Given the description of an element on the screen output the (x, y) to click on. 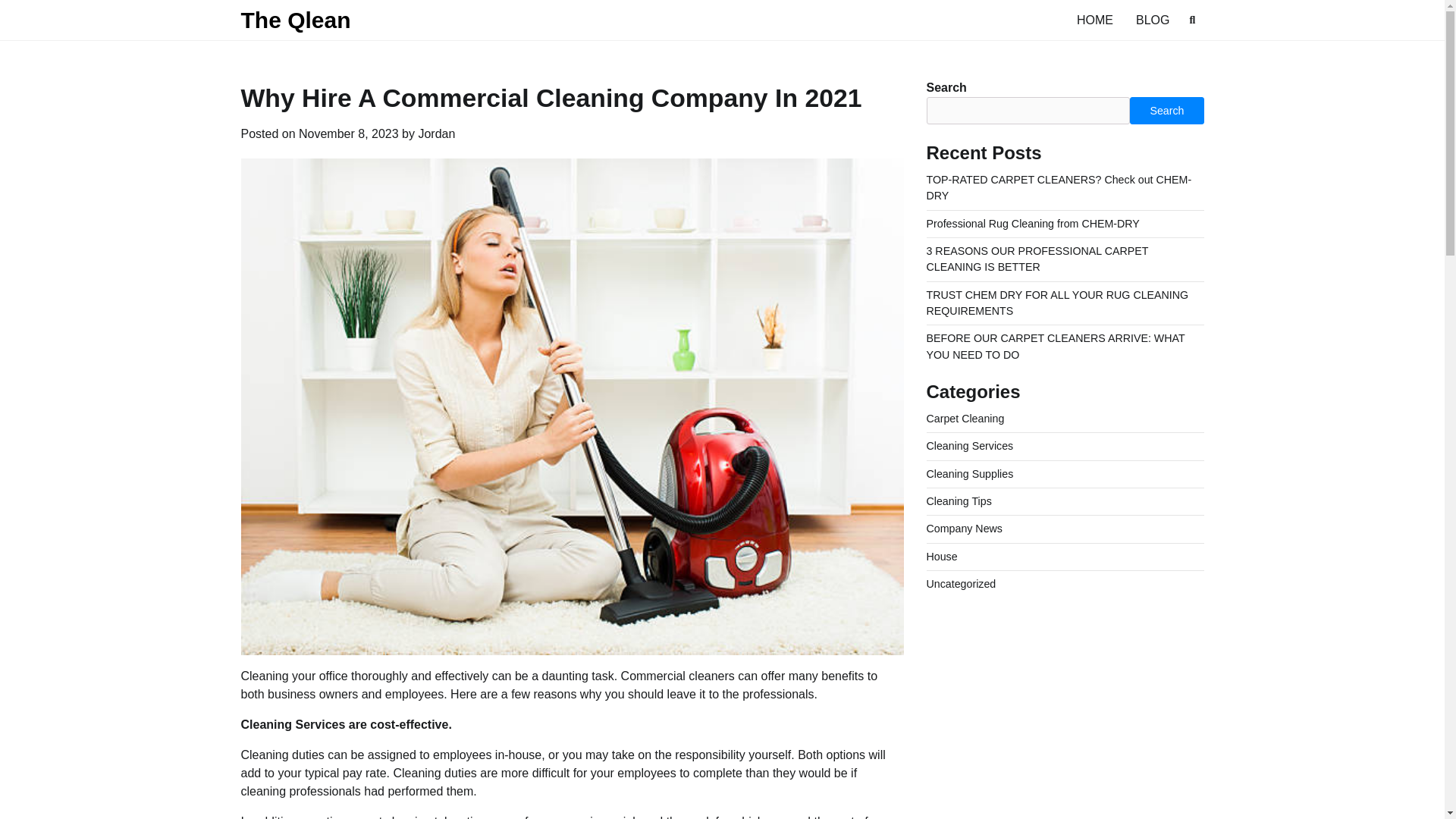
Cleaning Supplies (969, 473)
House (942, 556)
3 REASONS OUR PROFESSIONAL CARPET CLEANING IS BETTER (1037, 258)
The Qlean (295, 19)
Search (1164, 55)
Search (1192, 20)
Carpet Cleaning (965, 418)
Professional Rug Cleaning from CHEM-DRY (1033, 223)
Company News (964, 528)
Cleaning Tips (958, 500)
TRUST CHEM DRY FOR ALL YOUR RUG CLEANING REQUIREMENTS (1057, 302)
Search (1166, 110)
November 8, 2023 (348, 133)
Uncategorized (960, 583)
Jordan (435, 133)
